Given the description of an element on the screen output the (x, y) to click on. 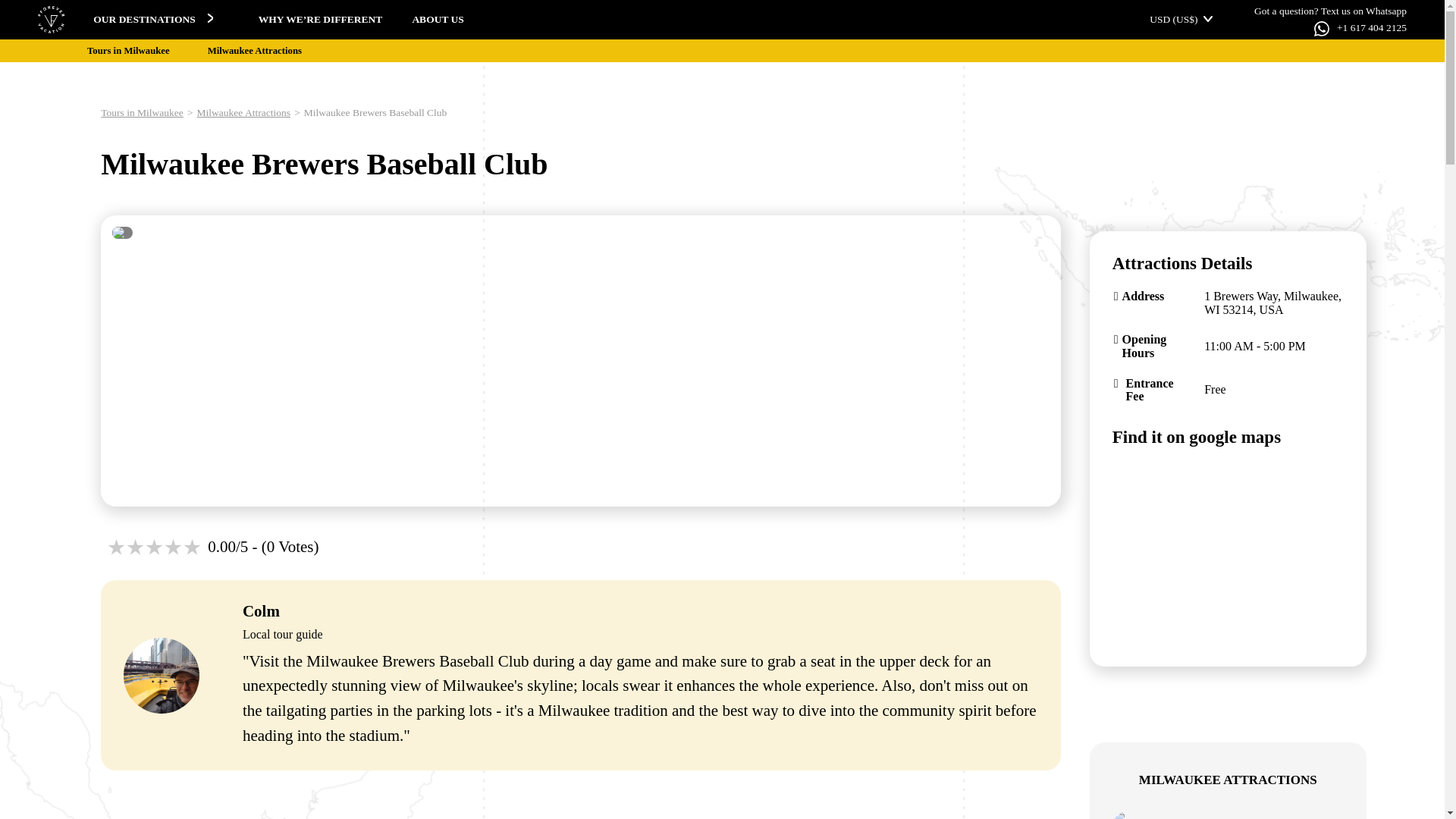
4 stars (173, 547)
5 stars (192, 547)
3 stars (153, 547)
2 stars (134, 547)
OUR DESTINATIONS (154, 19)
1 stars (115, 547)
